Given the description of an element on the screen output the (x, y) to click on. 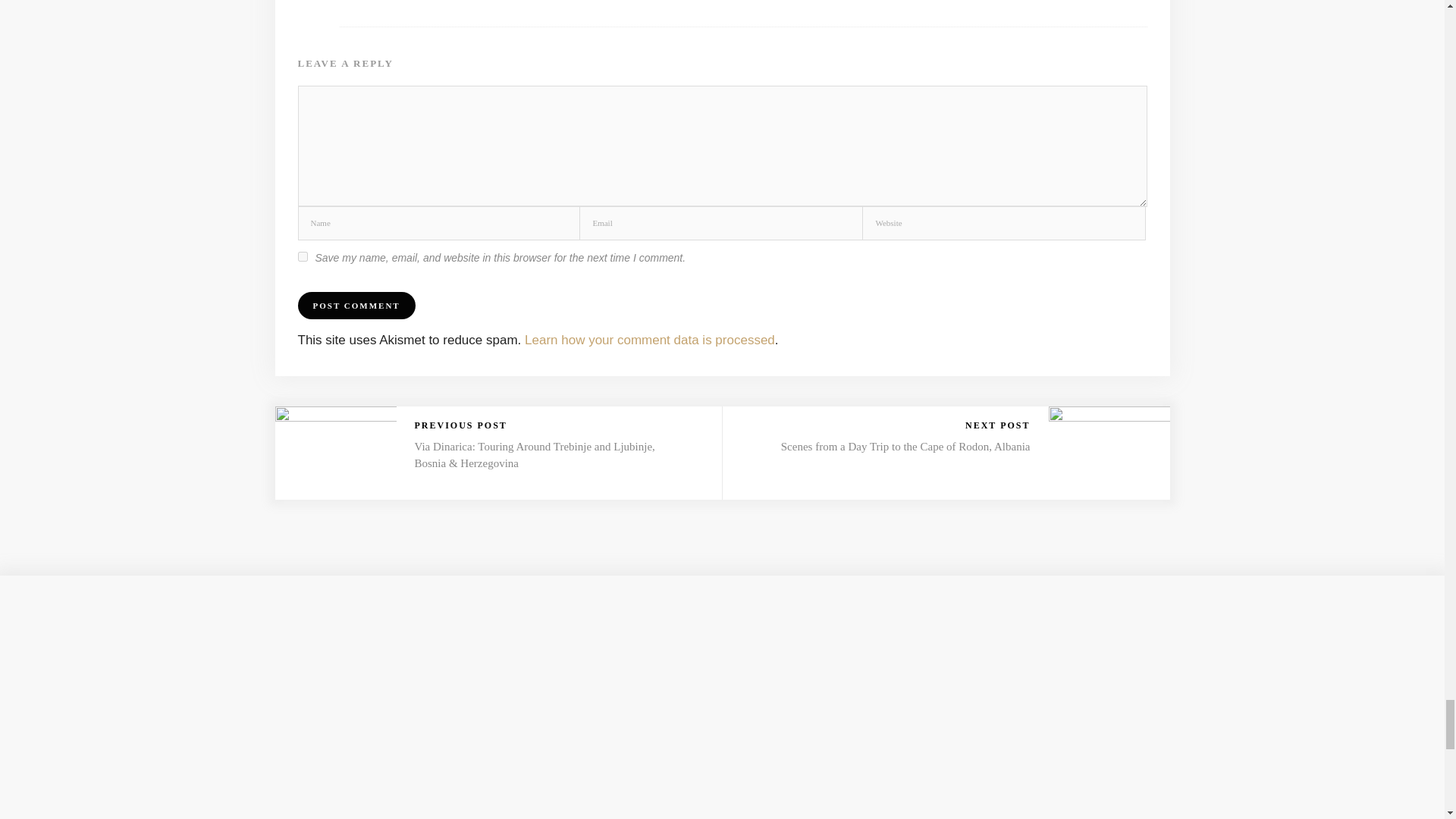
yes (302, 256)
Post Comment (355, 305)
